Given the description of an element on the screen output the (x, y) to click on. 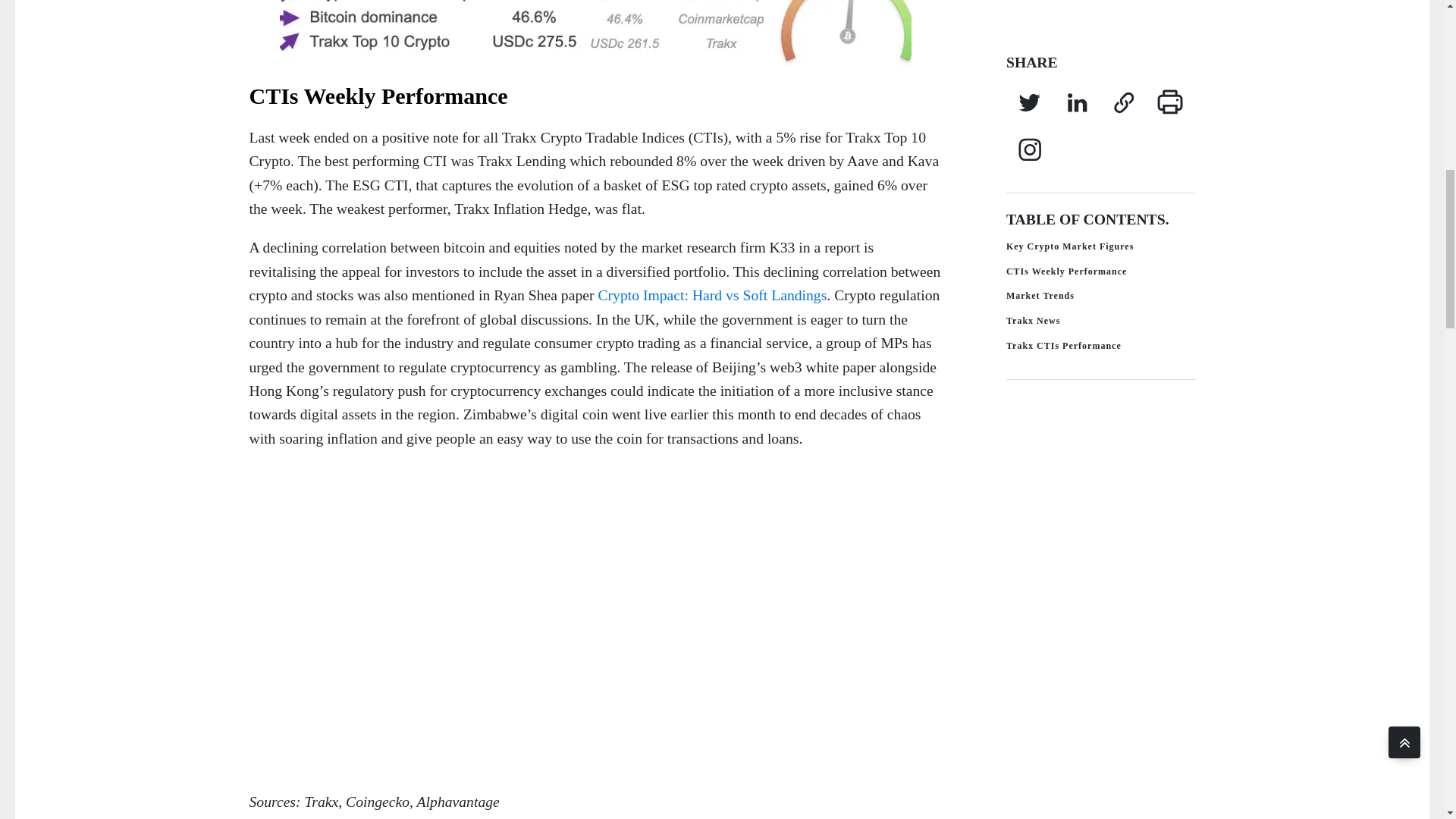
Market Trends (1093, 94)
CTIs Weekly Performance (1093, 70)
Crypto Impact: Hard vs Soft Landings (711, 294)
Trakx News (1093, 119)
Key Crypto Market Figures (1093, 45)
Trakx CTIs Performance (1093, 145)
